Given the description of an element on the screen output the (x, y) to click on. 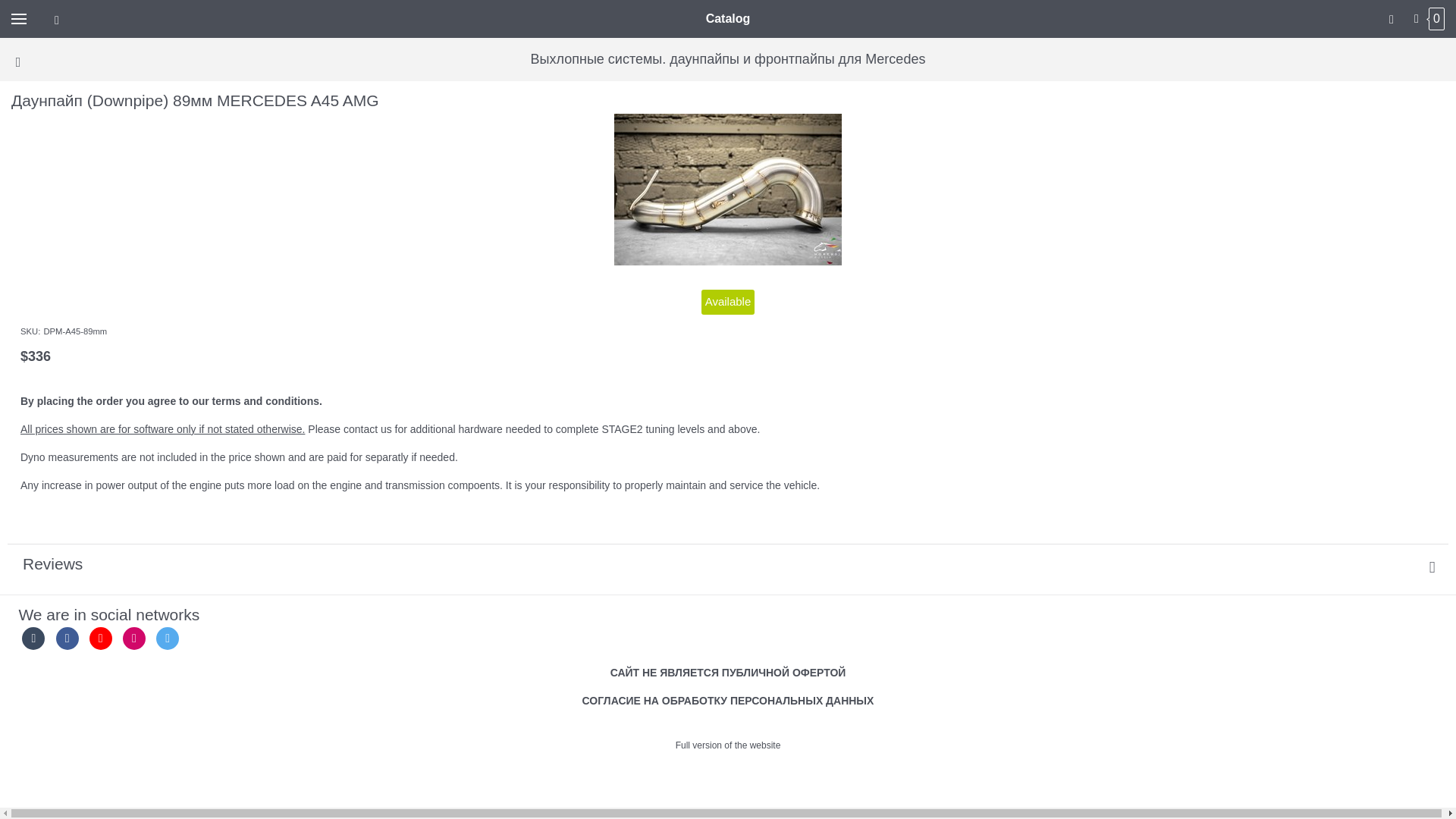
Reviews (727, 563)
Full version of the website (727, 745)
